Given the description of an element on the screen output the (x, y) to click on. 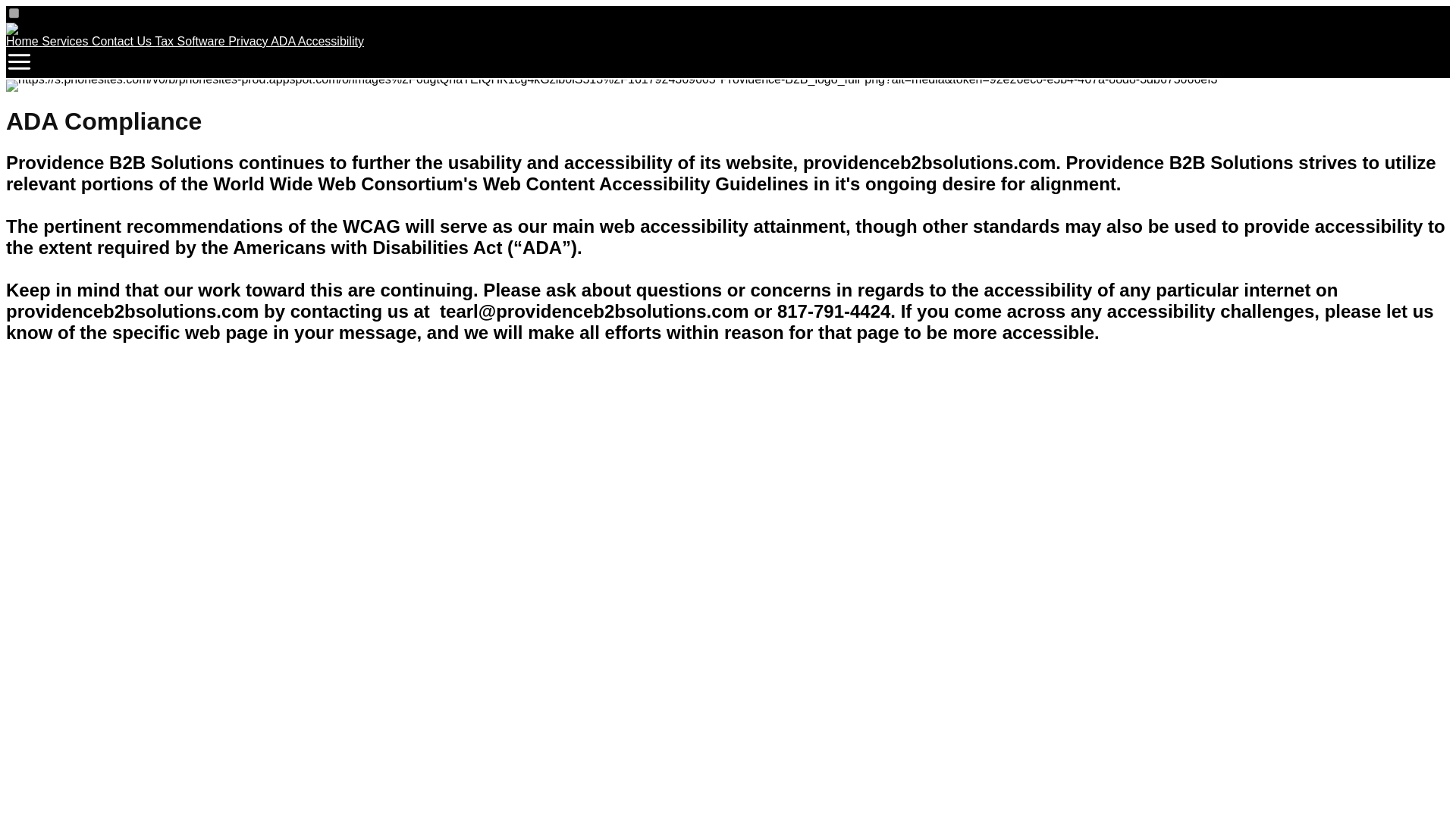
Privacy (249, 41)
on (13, 13)
Tax Software (191, 41)
Contact Us (122, 41)
ADA Accessibility (317, 41)
Home (23, 41)
Services (66, 41)
